Given the description of an element on the screen output the (x, y) to click on. 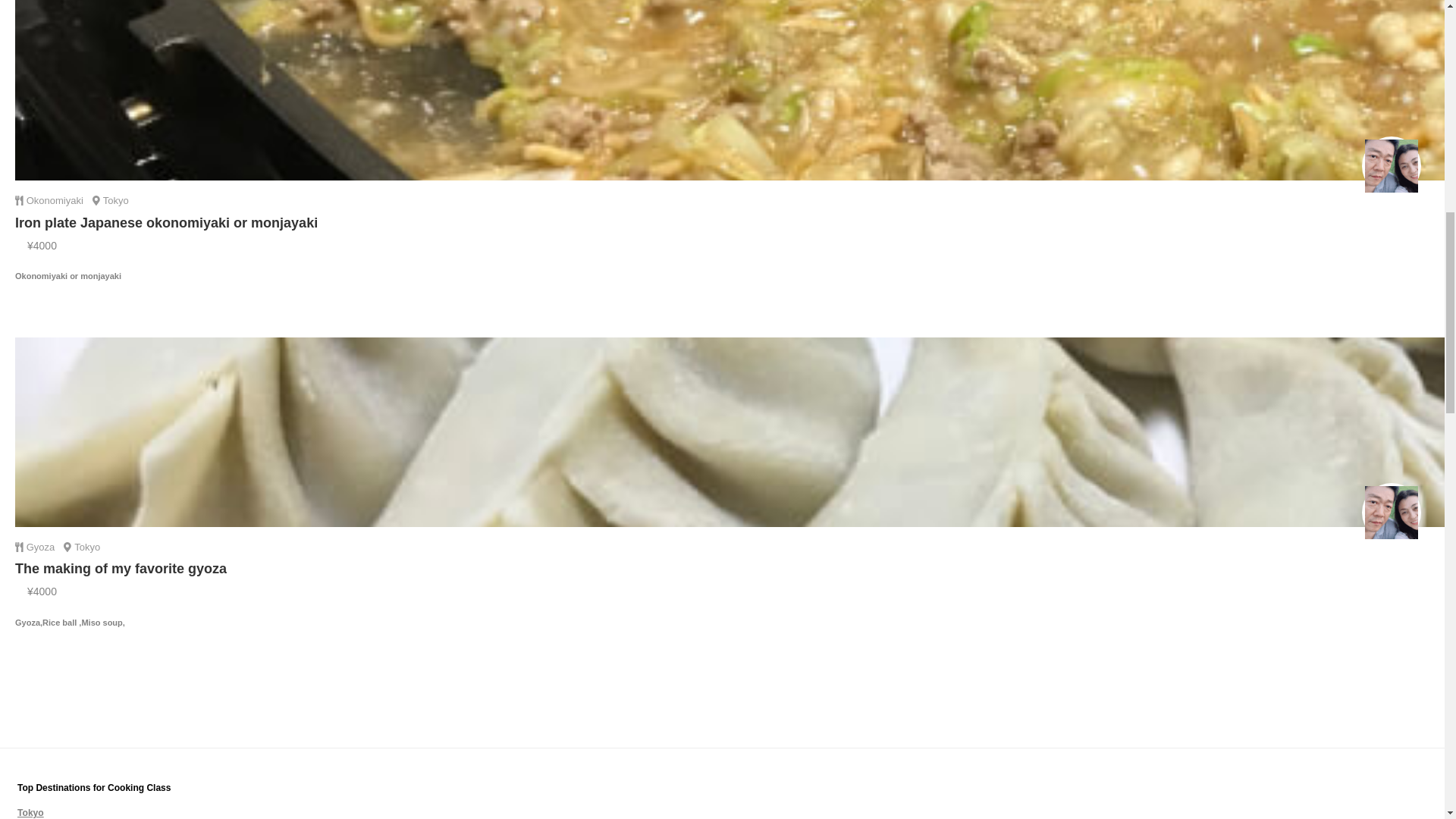
Tokyo (30, 812)
Okonomiyaki or monjayaki (721, 293)
Gyoza,Rice ball ,Miso soup, (721, 639)
Okonomiyaki (55, 200)
The making of my favorite gyoza (120, 568)
Gyoza (42, 546)
Iron plate Japanese okonomiyaki or monjayaki (165, 222)
